Given the description of an element on the screen output the (x, y) to click on. 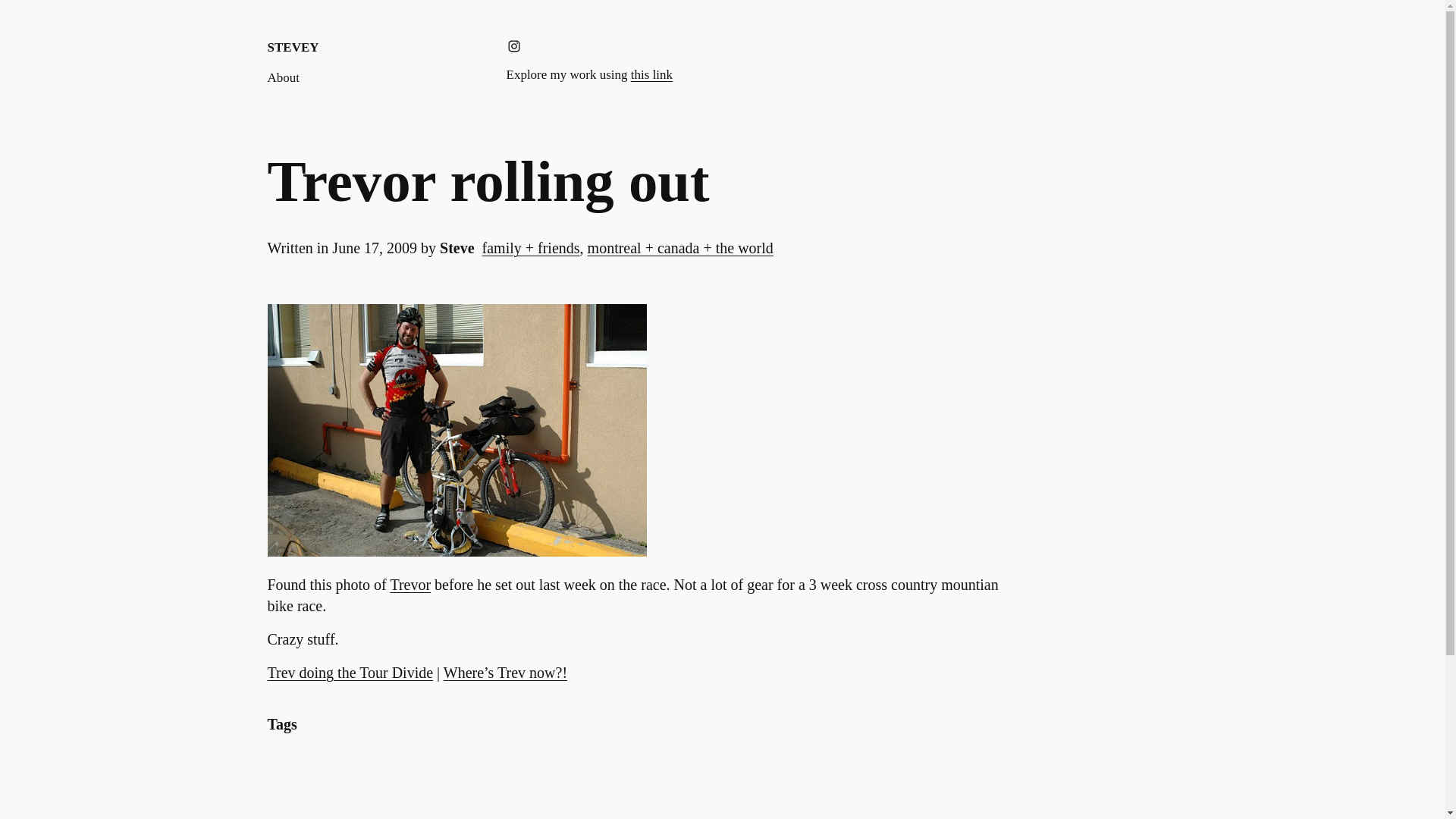
About (282, 77)
STEVEY (292, 47)
Trevor rolling out (487, 181)
Trev doing the Tour Divide (349, 672)
Trevor (410, 584)
Instagram (513, 46)
this link (651, 74)
